Given the description of an element on the screen output the (x, y) to click on. 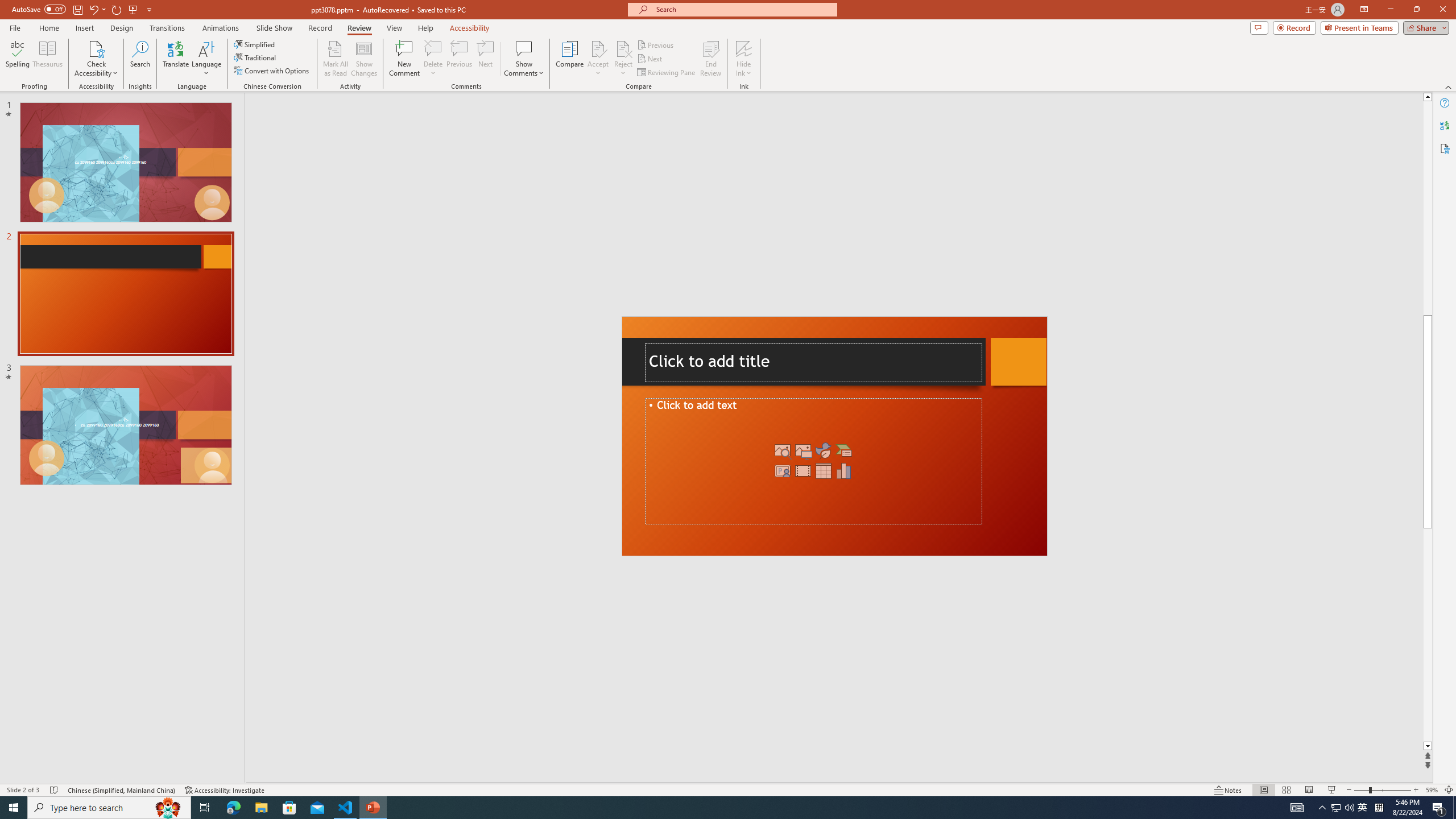
Simplified (254, 44)
Reviewing Pane (666, 72)
